Given the description of an element on the screen output the (x, y) to click on. 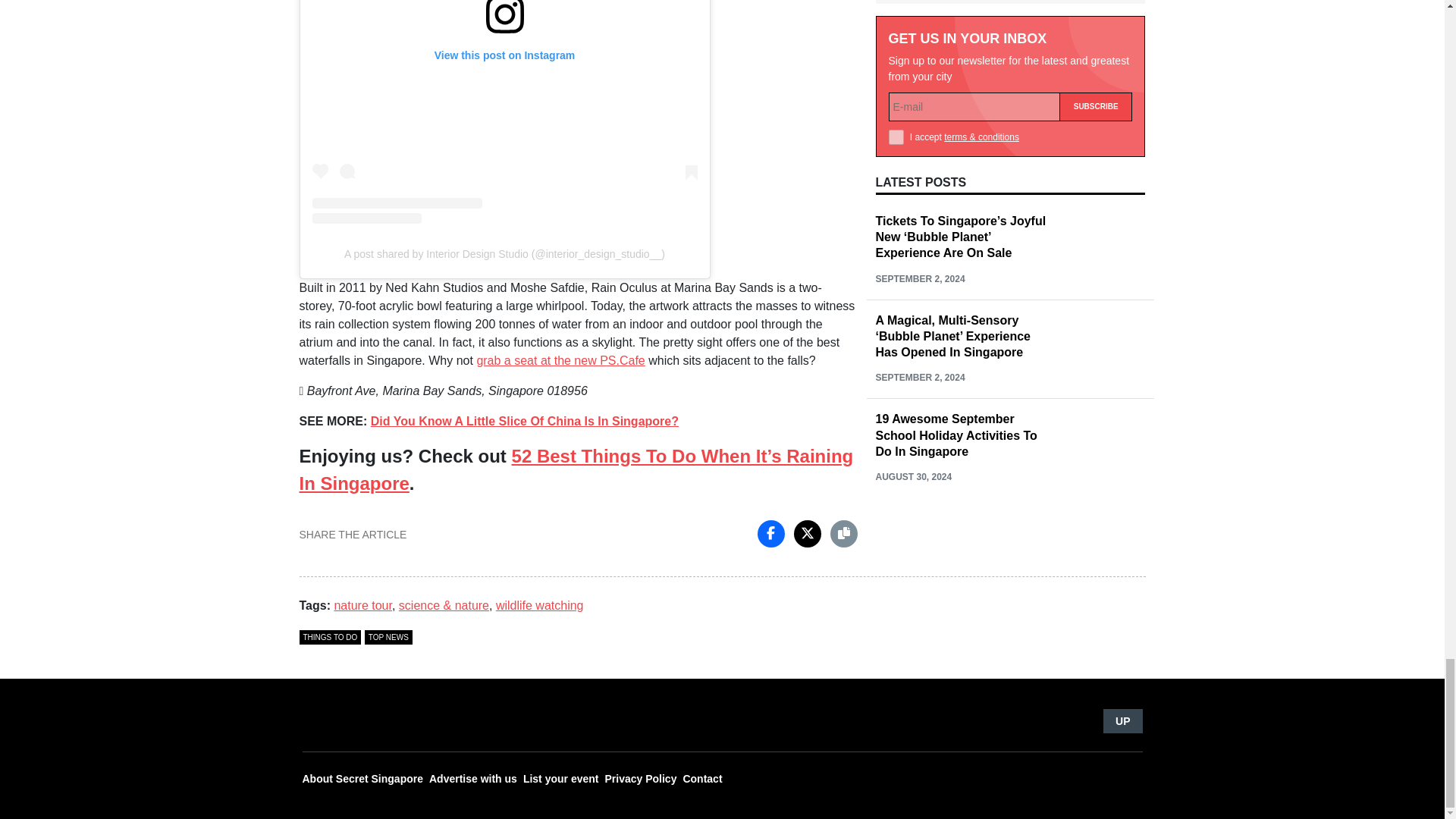
View this post on Instagram (505, 111)
Did You Know A Little Slice Of China Is In Singapore? (524, 420)
grab a seat at the new PS.Cafe (560, 359)
